Given the description of an element on the screen output the (x, y) to click on. 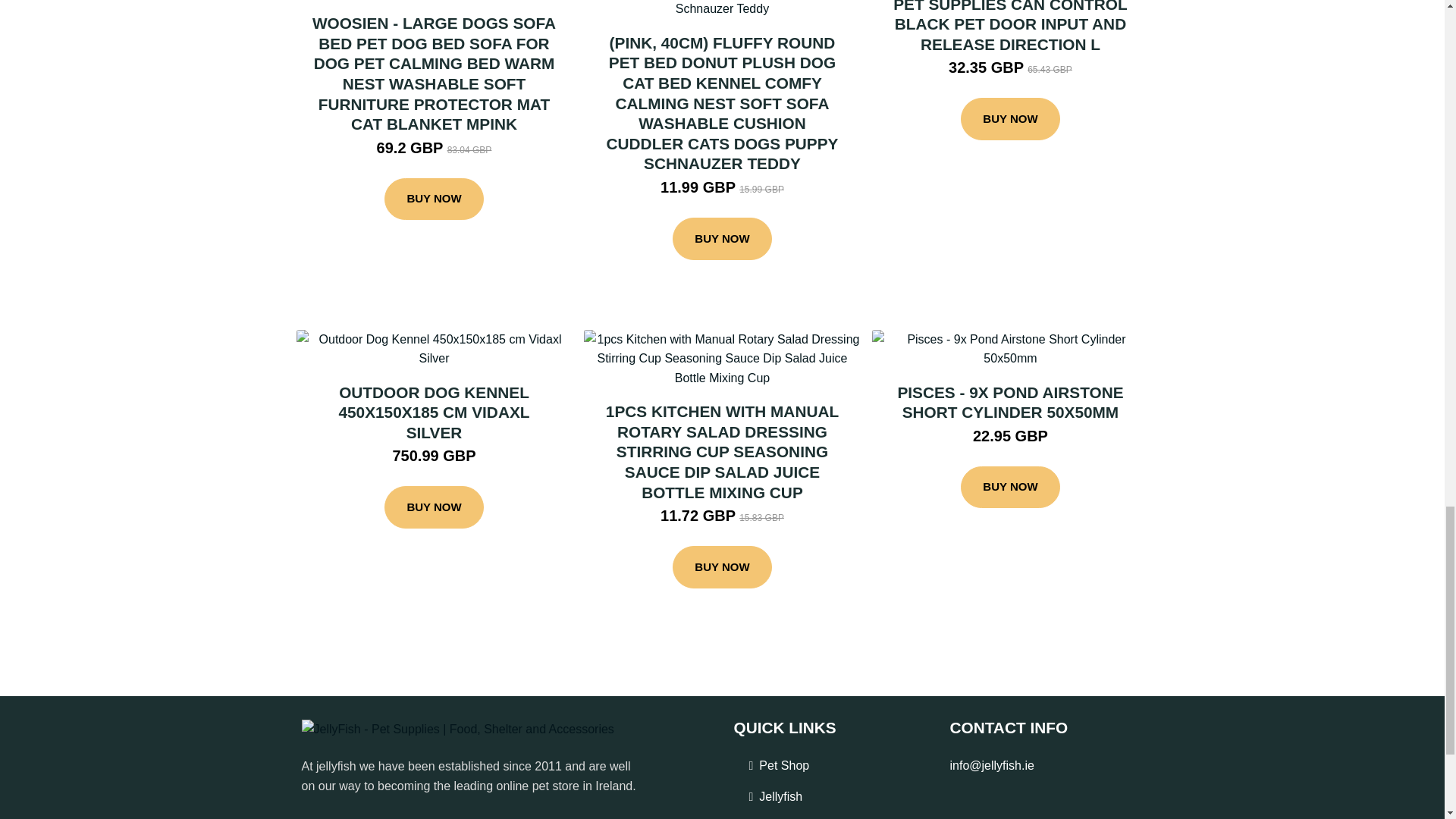
BUY NOW (433, 199)
BUY NOW (721, 238)
